Given the description of an element on the screen output the (x, y) to click on. 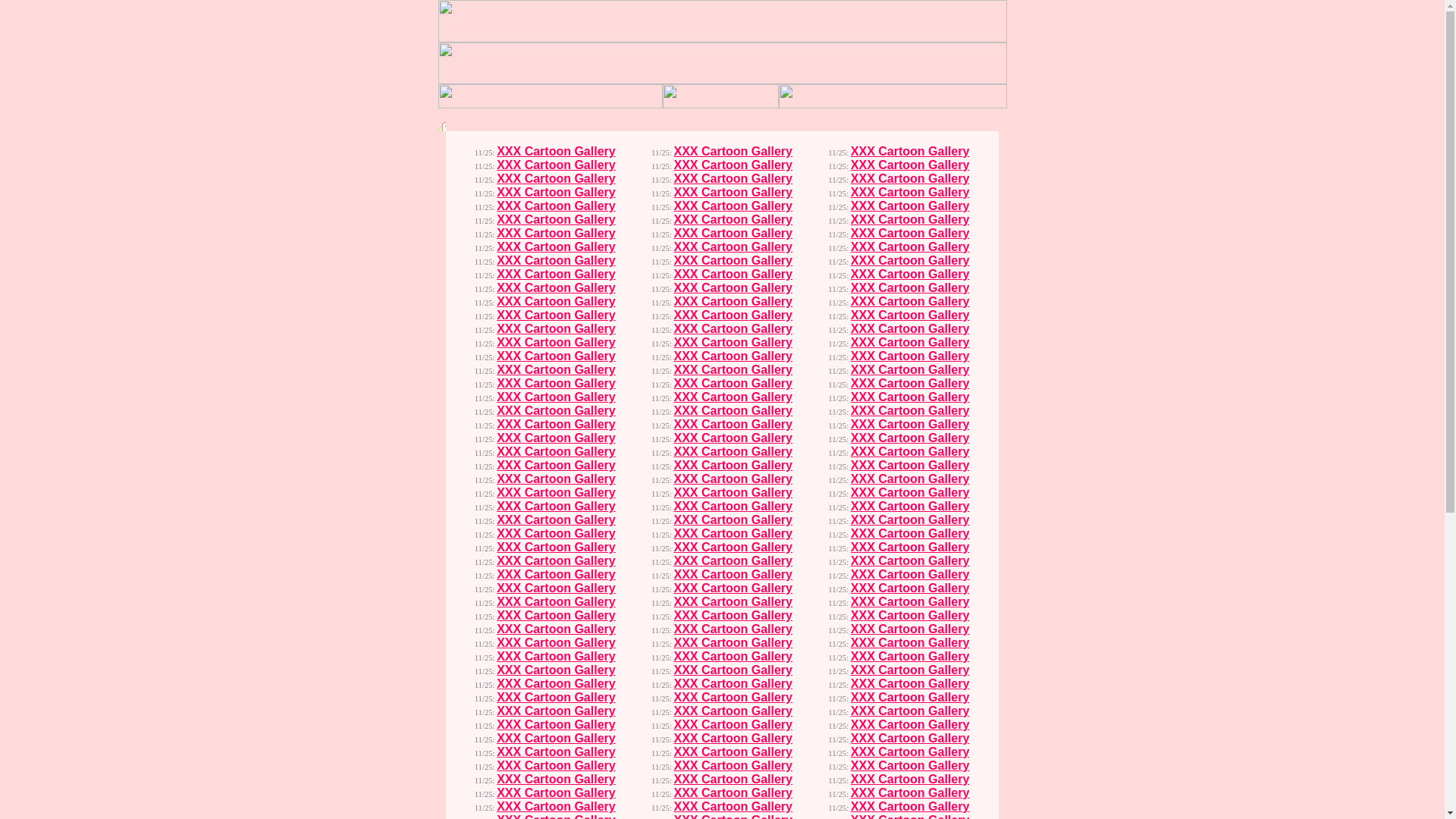
XXX Cartoon Gallery Element type: text (555, 614)
XXX Cartoon Gallery Element type: text (732, 410)
XXX Cartoon Gallery Element type: text (732, 533)
XXX Cartoon Gallery Element type: text (732, 806)
XXX Cartoon Gallery Element type: text (909, 655)
XXX Cartoon Gallery Element type: text (909, 178)
XXX Cartoon Gallery Element type: text (732, 724)
XXX Cartoon Gallery Element type: text (909, 300)
XXX Cartoon Gallery Element type: text (555, 287)
XXX Cartoon Gallery Element type: text (555, 191)
XXX Cartoon Gallery Element type: text (555, 601)
XXX Cartoon Gallery Element type: text (555, 642)
XXX Cartoon Gallery Element type: text (909, 314)
XXX Cartoon Gallery Element type: text (555, 710)
XXX Cartoon Gallery Element type: text (555, 533)
XXX Cartoon Gallery Element type: text (555, 260)
XXX Cartoon Gallery Element type: text (909, 219)
XXX Cartoon Gallery Element type: text (732, 628)
XXX Cartoon Gallery Element type: text (909, 205)
XXX Cartoon Gallery Element type: text (909, 696)
XXX Cartoon Gallery Element type: text (909, 451)
XXX Cartoon Gallery Element type: text (732, 642)
XXX Cartoon Gallery Element type: text (732, 792)
XXX Cartoon Gallery Element type: text (555, 792)
XXX Cartoon Gallery Element type: text (732, 655)
XXX Cartoon Gallery Element type: text (555, 328)
XXX Cartoon Gallery Element type: text (909, 724)
XXX Cartoon Gallery Element type: text (909, 505)
XXX Cartoon Gallery Element type: text (909, 396)
XXX Cartoon Gallery Element type: text (555, 423)
XXX Cartoon Gallery Element type: text (555, 150)
XXX Cartoon Gallery Element type: text (555, 232)
XXX Cartoon Gallery Element type: text (909, 778)
XXX Cartoon Gallery Element type: text (909, 328)
XXX Cartoon Gallery Element type: text (555, 778)
XXX Cartoon Gallery Element type: text (555, 765)
XXX Cartoon Gallery Element type: text (732, 519)
XXX Cartoon Gallery Element type: text (555, 273)
XXX Cartoon Gallery Element type: text (909, 437)
XXX Cartoon Gallery Element type: text (732, 300)
XXX Cartoon Gallery Element type: text (732, 314)
XXX Cartoon Gallery Element type: text (555, 560)
XXX Cartoon Gallery Element type: text (732, 341)
XXX Cartoon Gallery Element type: text (732, 765)
XXX Cartoon Gallery Element type: text (555, 587)
XXX Cartoon Gallery Element type: text (555, 573)
XXX Cartoon Gallery Element type: text (732, 287)
XXX Cartoon Gallery Element type: text (555, 178)
XXX Cartoon Gallery Element type: text (555, 451)
XXX Cartoon Gallery Element type: text (909, 573)
XXX Cartoon Gallery Element type: text (555, 369)
XXX Cartoon Gallery Element type: text (909, 382)
XXX Cartoon Gallery Element type: text (555, 437)
XXX Cartoon Gallery Element type: text (555, 300)
XXX Cartoon Gallery Element type: text (732, 710)
XXX Cartoon Gallery Element type: text (732, 328)
XXX Cartoon Gallery Element type: text (555, 478)
XXX Cartoon Gallery Element type: text (909, 164)
XXX Cartoon Gallery Element type: text (555, 464)
XXX Cartoon Gallery Element type: text (555, 724)
XXX Cartoon Gallery Element type: text (732, 505)
XXX Cartoon Gallery Element type: text (732, 669)
XXX Cartoon Gallery Element type: text (909, 710)
XXX Cartoon Gallery Element type: text (732, 150)
XXX Cartoon Gallery Element type: text (732, 164)
XXX Cartoon Gallery Element type: text (909, 492)
XXX Cartoon Gallery Element type: text (555, 396)
XXX Cartoon Gallery Element type: text (732, 601)
XXX Cartoon Gallery Element type: text (909, 369)
XXX Cartoon Gallery Element type: text (732, 246)
XXX Cartoon Gallery Element type: text (555, 505)
XXX Cartoon Gallery Element type: text (732, 437)
XXX Cartoon Gallery Element type: text (909, 341)
XXX Cartoon Gallery Element type: text (732, 232)
XXX Cartoon Gallery Element type: text (555, 492)
XXX Cartoon Gallery Element type: text (909, 669)
XXX Cartoon Gallery Element type: text (732, 683)
XXX Cartoon Gallery Element type: text (909, 191)
XXX Cartoon Gallery Element type: text (732, 546)
XXX Cartoon Gallery Element type: text (909, 519)
XXX Cartoon Gallery Element type: text (732, 423)
XXX Cartoon Gallery Element type: text (732, 369)
XXX Cartoon Gallery Element type: text (732, 260)
XXX Cartoon Gallery Element type: text (732, 396)
XXX Cartoon Gallery Element type: text (732, 355)
XXX Cartoon Gallery Element type: text (909, 410)
XXX Cartoon Gallery Element type: text (732, 751)
XXX Cartoon Gallery Element type: text (555, 410)
XXX Cartoon Gallery Element type: text (909, 792)
XXX Cartoon Gallery Element type: text (555, 355)
XXX Cartoon Gallery Element type: text (555, 164)
XXX Cartoon Gallery Element type: text (909, 423)
XXX Cartoon Gallery Element type: text (555, 737)
XXX Cartoon Gallery Element type: text (555, 696)
XXX Cartoon Gallery Element type: text (732, 178)
XXX Cartoon Gallery Element type: text (732, 560)
XXX Cartoon Gallery Element type: text (909, 601)
XXX Cartoon Gallery Element type: text (555, 314)
XXX Cartoon Gallery Element type: text (909, 683)
XXX Cartoon Gallery Element type: text (909, 287)
XXX Cartoon Gallery Element type: text (909, 765)
XXX Cartoon Gallery Element type: text (909, 642)
XXX Cartoon Gallery Element type: text (732, 273)
XXX Cartoon Gallery Element type: text (909, 806)
XXX Cartoon Gallery Element type: text (732, 219)
XXX Cartoon Gallery Element type: text (732, 696)
XXX Cartoon Gallery Element type: text (909, 751)
XXX Cartoon Gallery Element type: text (555, 519)
XXX Cartoon Gallery Element type: text (732, 614)
XXX Cartoon Gallery Element type: text (909, 587)
XXX Cartoon Gallery Element type: text (732, 205)
XXX Cartoon Gallery Element type: text (732, 587)
XXX Cartoon Gallery Element type: text (909, 355)
XXX Cartoon Gallery Element type: text (732, 573)
XXX Cartoon Gallery Element type: text (909, 232)
XXX Cartoon Gallery Element type: text (909, 614)
XXX Cartoon Gallery Element type: text (732, 451)
XXX Cartoon Gallery Element type: text (732, 382)
XXX Cartoon Gallery Element type: text (555, 246)
XXX Cartoon Gallery Element type: text (909, 560)
XXX Cartoon Gallery Element type: text (555, 669)
XXX Cartoon Gallery Element type: text (555, 219)
XXX Cartoon Gallery Element type: text (909, 150)
XXX Cartoon Gallery Element type: text (909, 546)
XXX Cartoon Gallery Element type: text (555, 751)
XXX Cartoon Gallery Element type: text (732, 778)
XXX Cartoon Gallery Element type: text (909, 260)
XXX Cartoon Gallery Element type: text (555, 628)
XXX Cartoon Gallery Element type: text (555, 382)
XXX Cartoon Gallery Element type: text (909, 628)
XXX Cartoon Gallery Element type: text (555, 683)
XXX Cartoon Gallery Element type: text (732, 464)
XXX Cartoon Gallery Element type: text (909, 273)
XXX Cartoon Gallery Element type: text (732, 478)
XXX Cartoon Gallery Element type: text (909, 246)
XXX Cartoon Gallery Element type: text (555, 655)
XXX Cartoon Gallery Element type: text (555, 806)
XXX Cartoon Gallery Element type: text (909, 533)
XXX Cartoon Gallery Element type: text (909, 464)
XXX Cartoon Gallery Element type: text (732, 737)
XXX Cartoon Gallery Element type: text (909, 478)
XXX Cartoon Gallery Element type: text (555, 341)
XXX Cartoon Gallery Element type: text (555, 205)
XXX Cartoon Gallery Element type: text (909, 737)
XXX Cartoon Gallery Element type: text (555, 546)
XXX Cartoon Gallery Element type: text (732, 191)
XXX Cartoon Gallery Element type: text (732, 492)
